Given the description of an element on the screen output the (x, y) to click on. 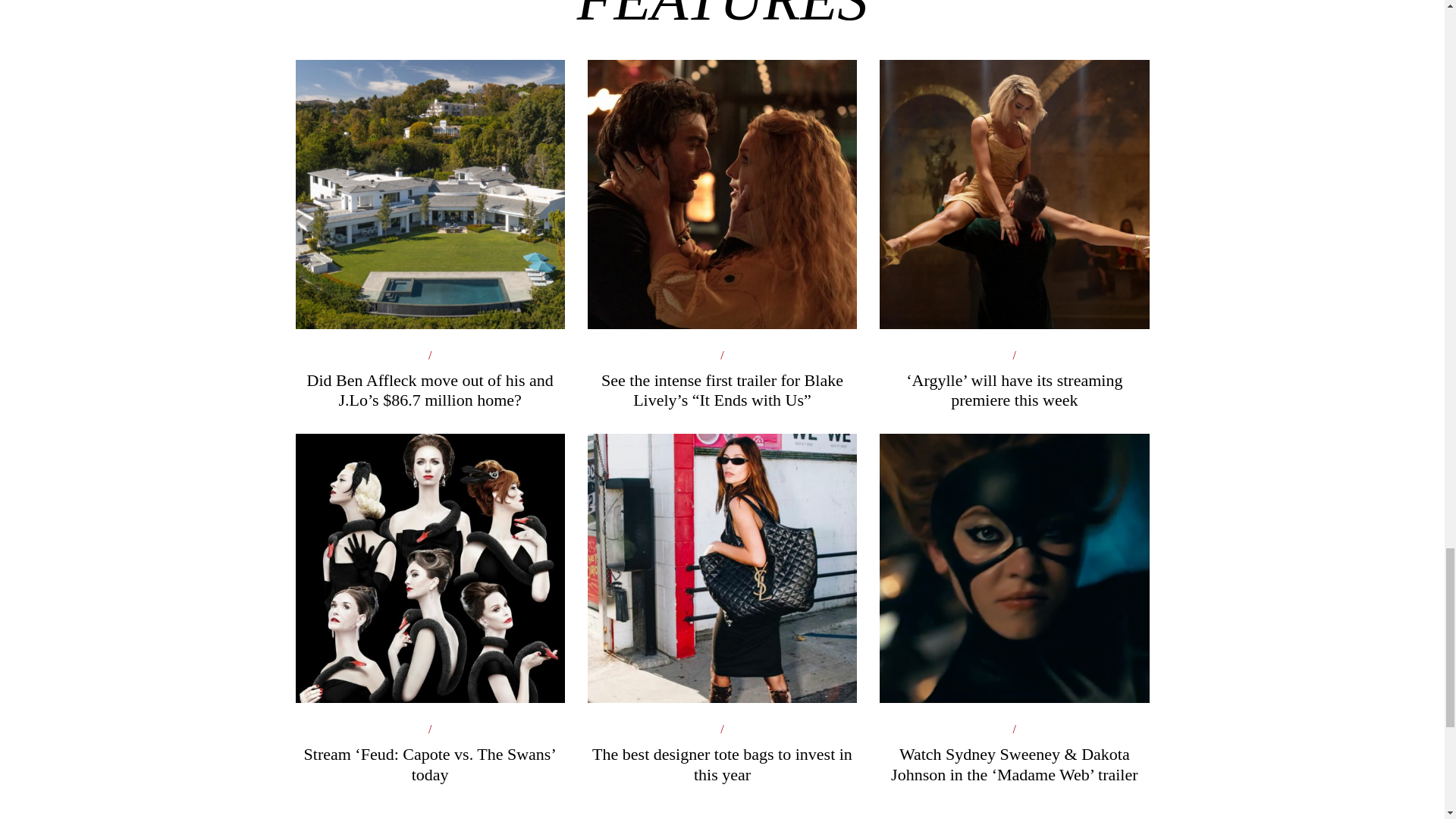
The best designer tote bags to invest in this year (722, 672)
The best designer tote bags to invest in this year (722, 672)
